Given the description of an element on the screen output the (x, y) to click on. 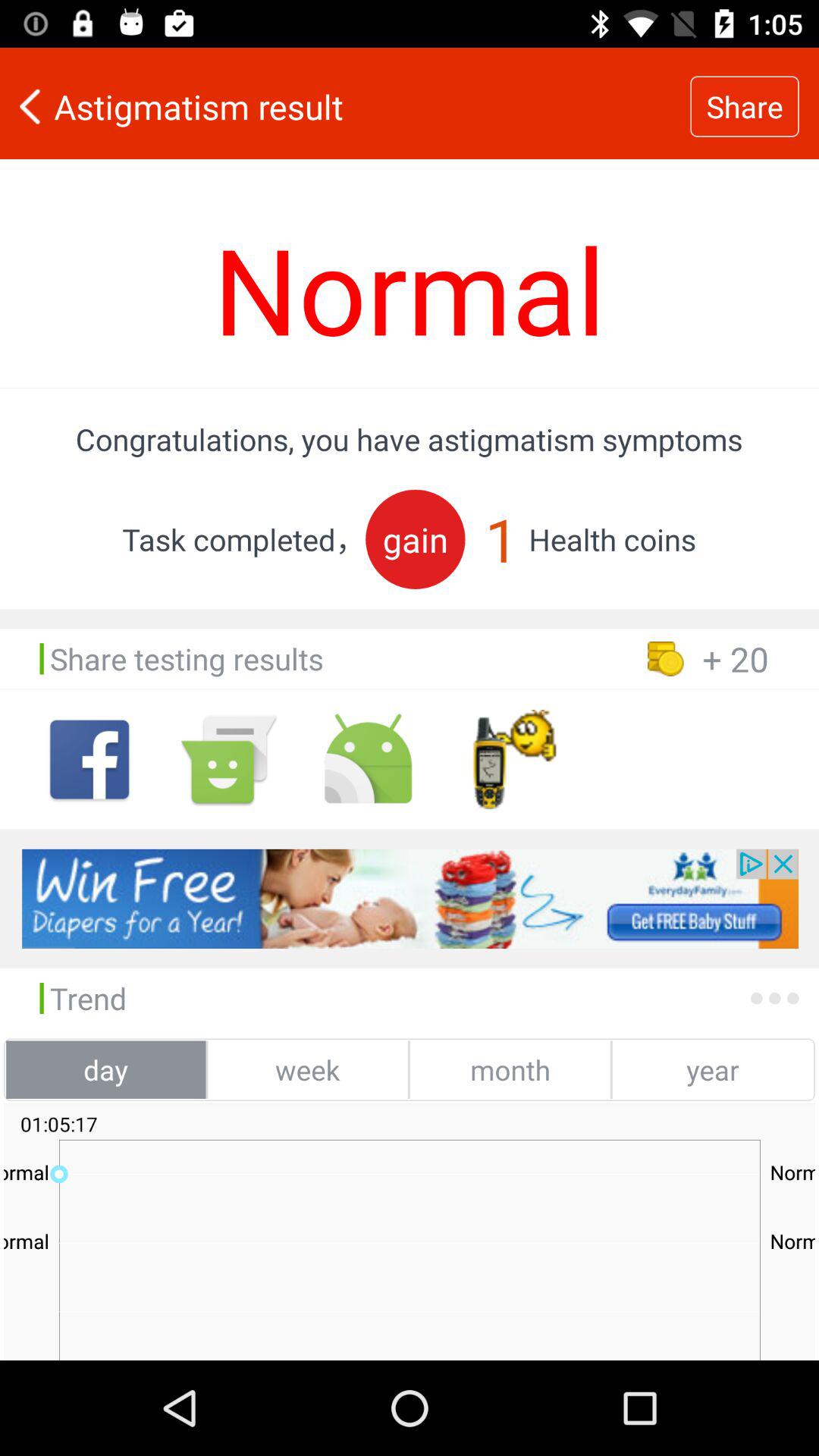
press icon next to 1 (415, 539)
